Given the description of an element on the screen output the (x, y) to click on. 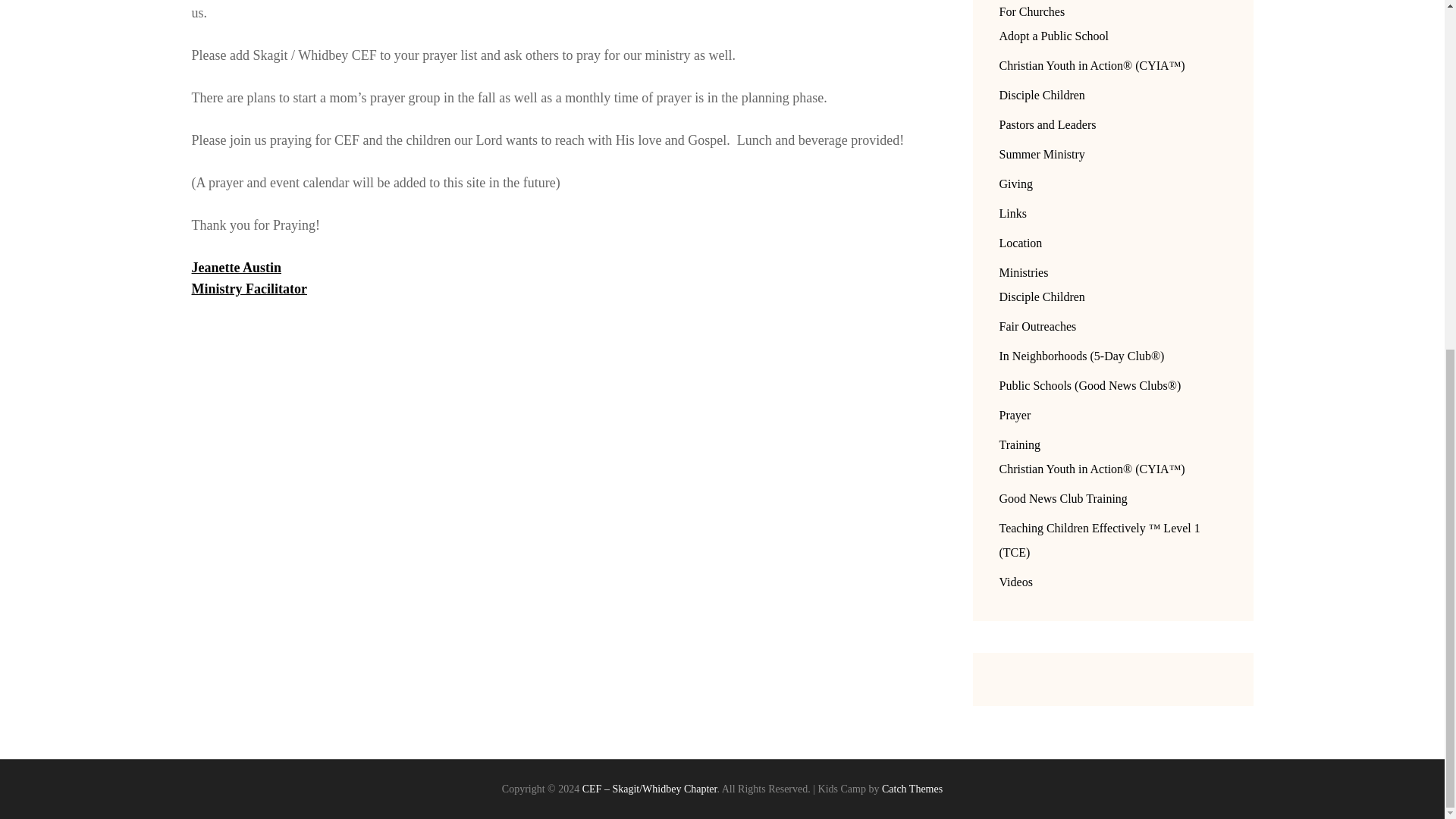
Ministry Facilitator (247, 288)
Jeanette Austin (235, 267)
